Given the description of an element on the screen output the (x, y) to click on. 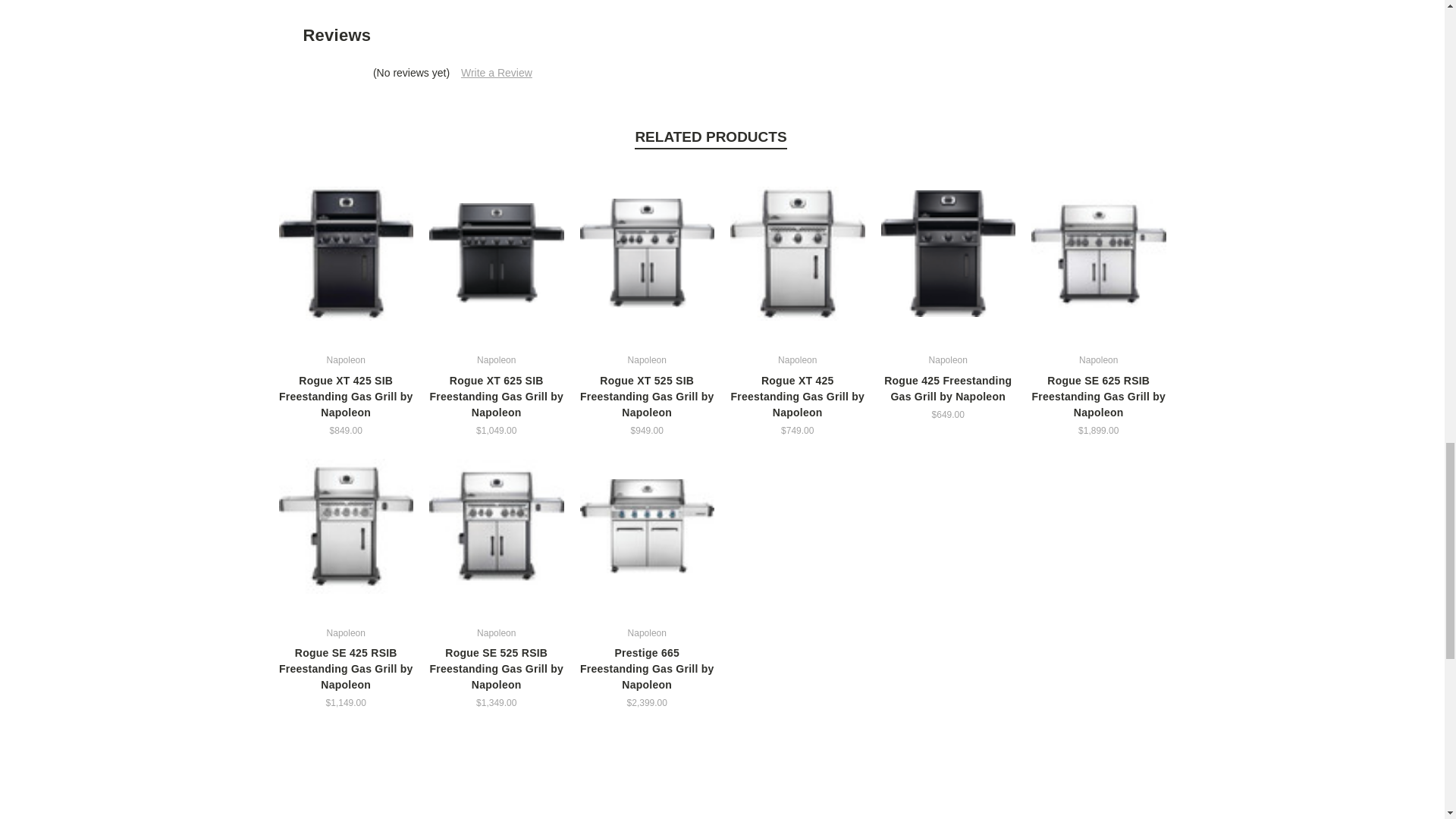
Rogue XT 425 SIB Freestanding Gas Grill by Napoleon (346, 253)
Rogue XT 625 SIB Freestanding Gas Grill by Napoleon (496, 253)
Rogue XT 425 Freestanding Gas Grill by Napoleon (797, 253)
Rogue XT 525 SIB Freestanding Gas Grill by Napoleon (646, 253)
